Given the description of an element on the screen output the (x, y) to click on. 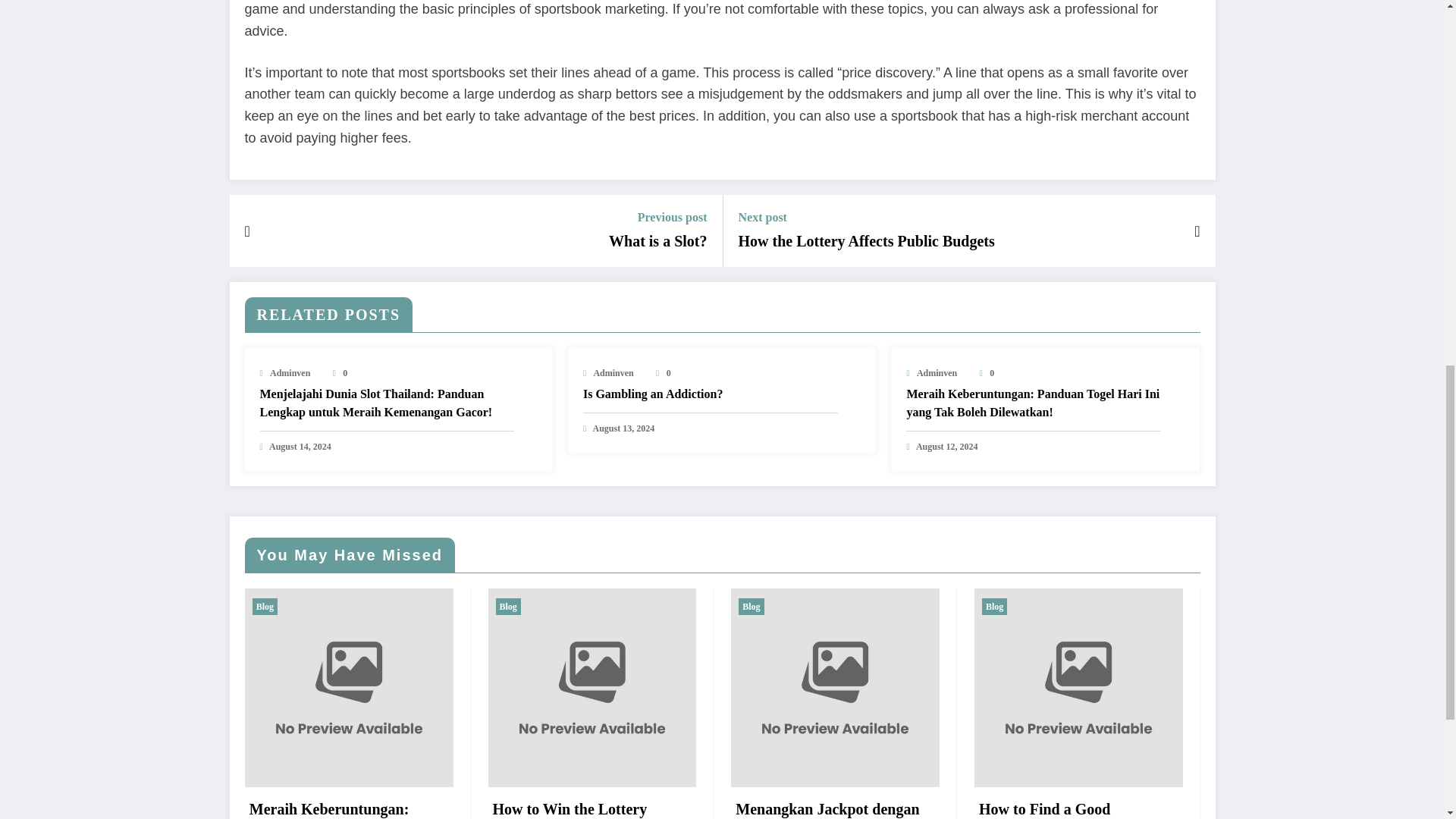
Is Gambling an Addiction? (710, 393)
Adminven (289, 372)
August 13, 2024 (622, 428)
What is a Slot? (657, 240)
Previous post (657, 216)
August 14, 2024 (300, 446)
How the Lottery Affects Public Budgets (866, 240)
Adminven (936, 372)
